Given the description of an element on the screen output the (x, y) to click on. 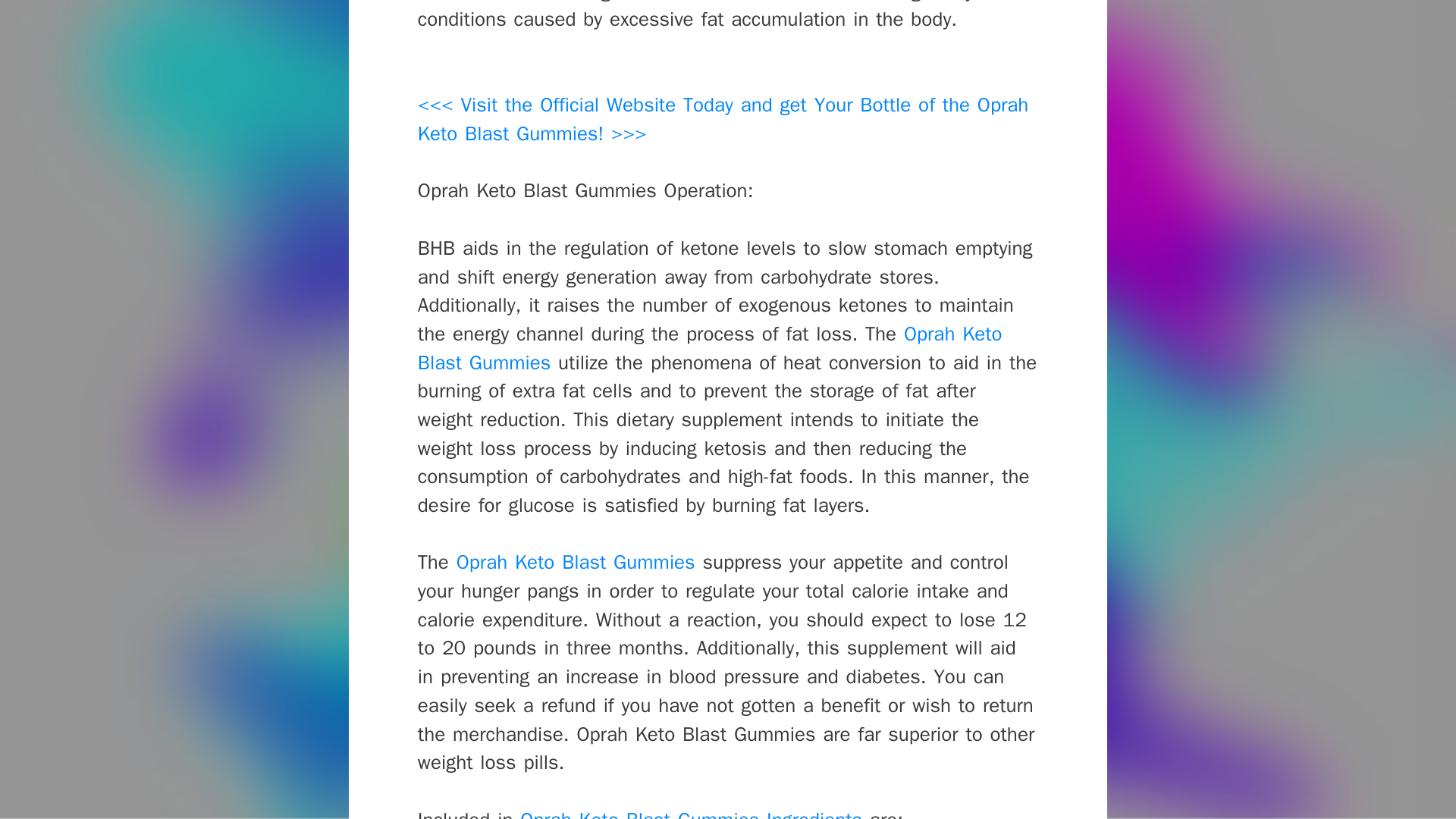
Oprah Keto Blast Gummies Ingredients (690, 813)
Oprah Keto Blast Gummies (710, 348)
Oprah Keto Blast Gummies (576, 561)
